Given the description of an element on the screen output the (x, y) to click on. 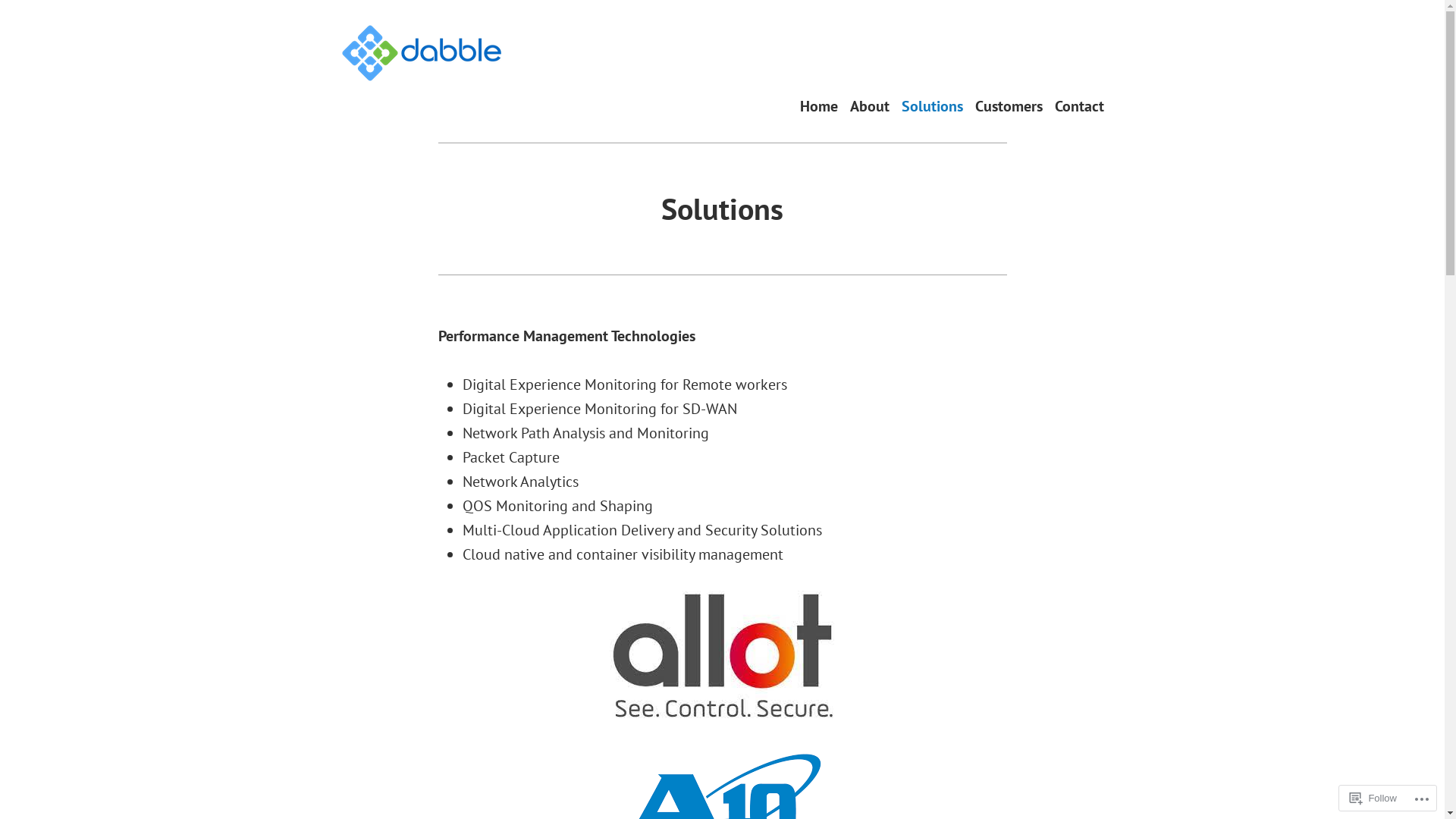
Home Element type: text (818, 105)
About Element type: text (868, 105)
Follow Element type: text (1372, 797)
Solutions Element type: text (931, 105)
Customers Element type: text (1008, 105)
Contact Element type: text (1078, 105)
